Given the description of an element on the screen output the (x, y) to click on. 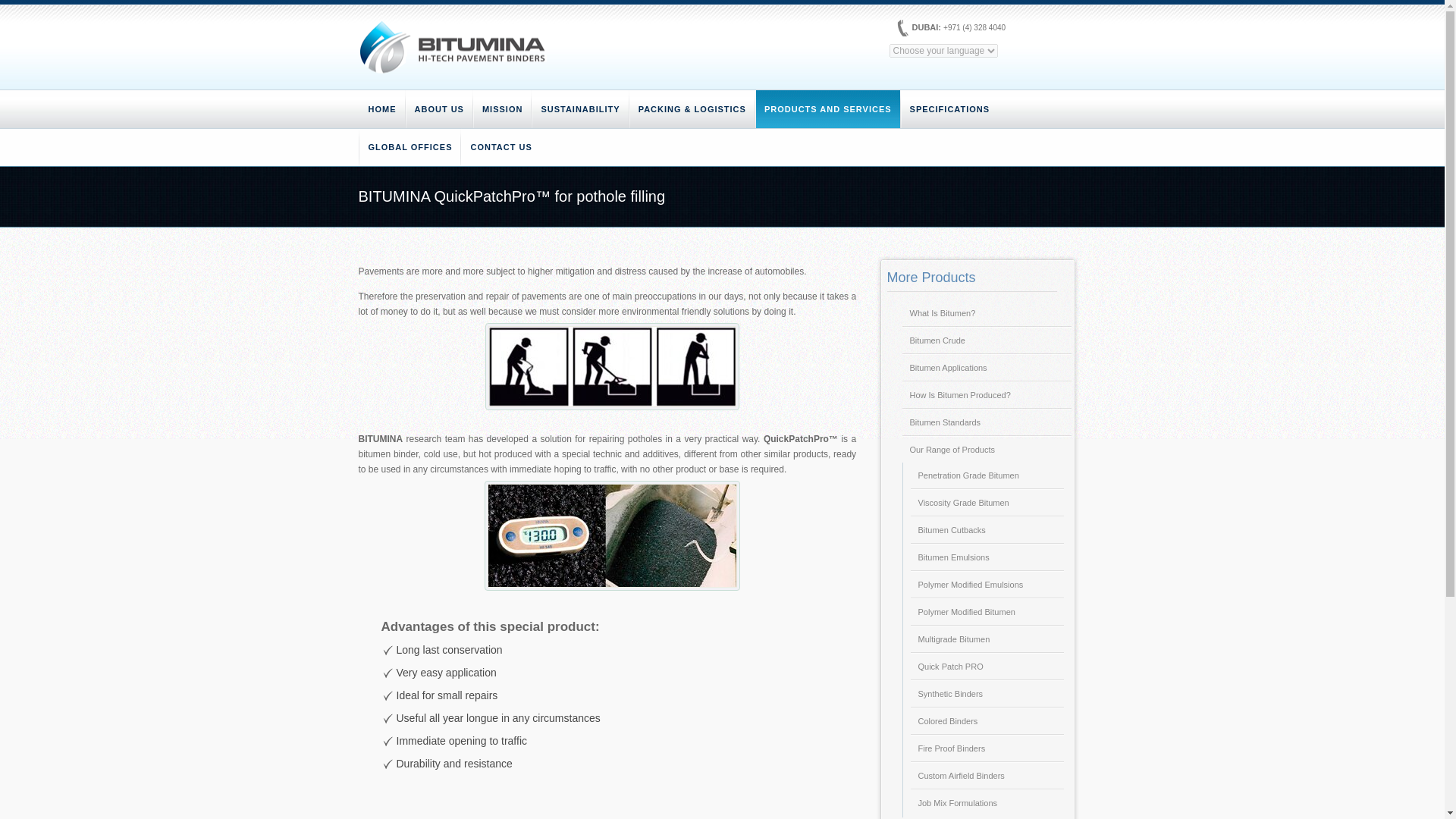
Polymer Modified Emulsions (986, 584)
Bitumen Standards (986, 421)
Colored Binders (986, 720)
What Is Bitumen? (986, 312)
HOME (381, 108)
Multigrade Bitumen (986, 638)
Synthetic Binders (986, 693)
Our Range of Products (986, 449)
Polymer Modified Bitumen (986, 611)
How Is Bitumen Produced? (986, 394)
